Given the description of an element on the screen output the (x, y) to click on. 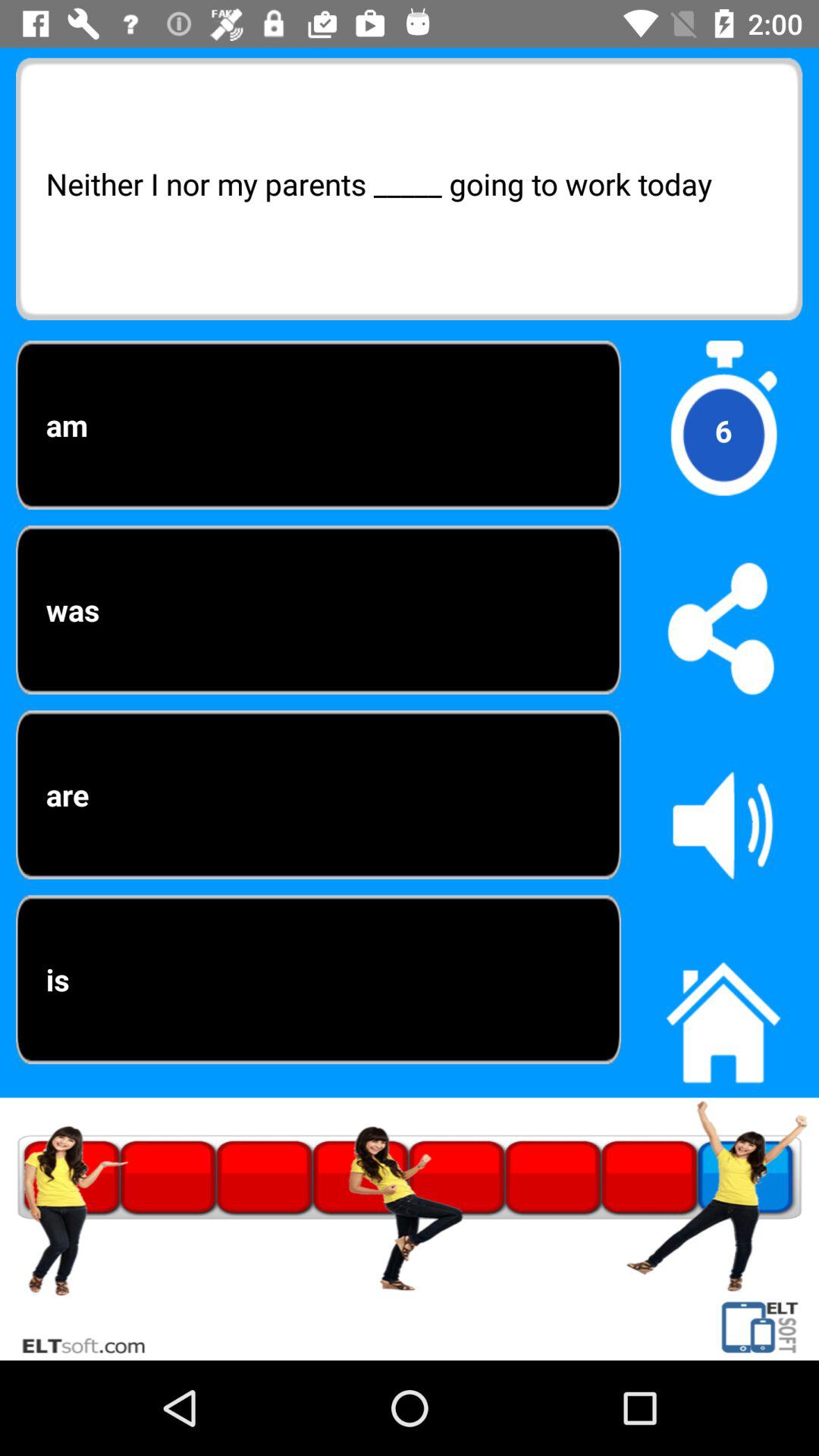
turn on is (318, 979)
